Given the description of an element on the screen output the (x, y) to click on. 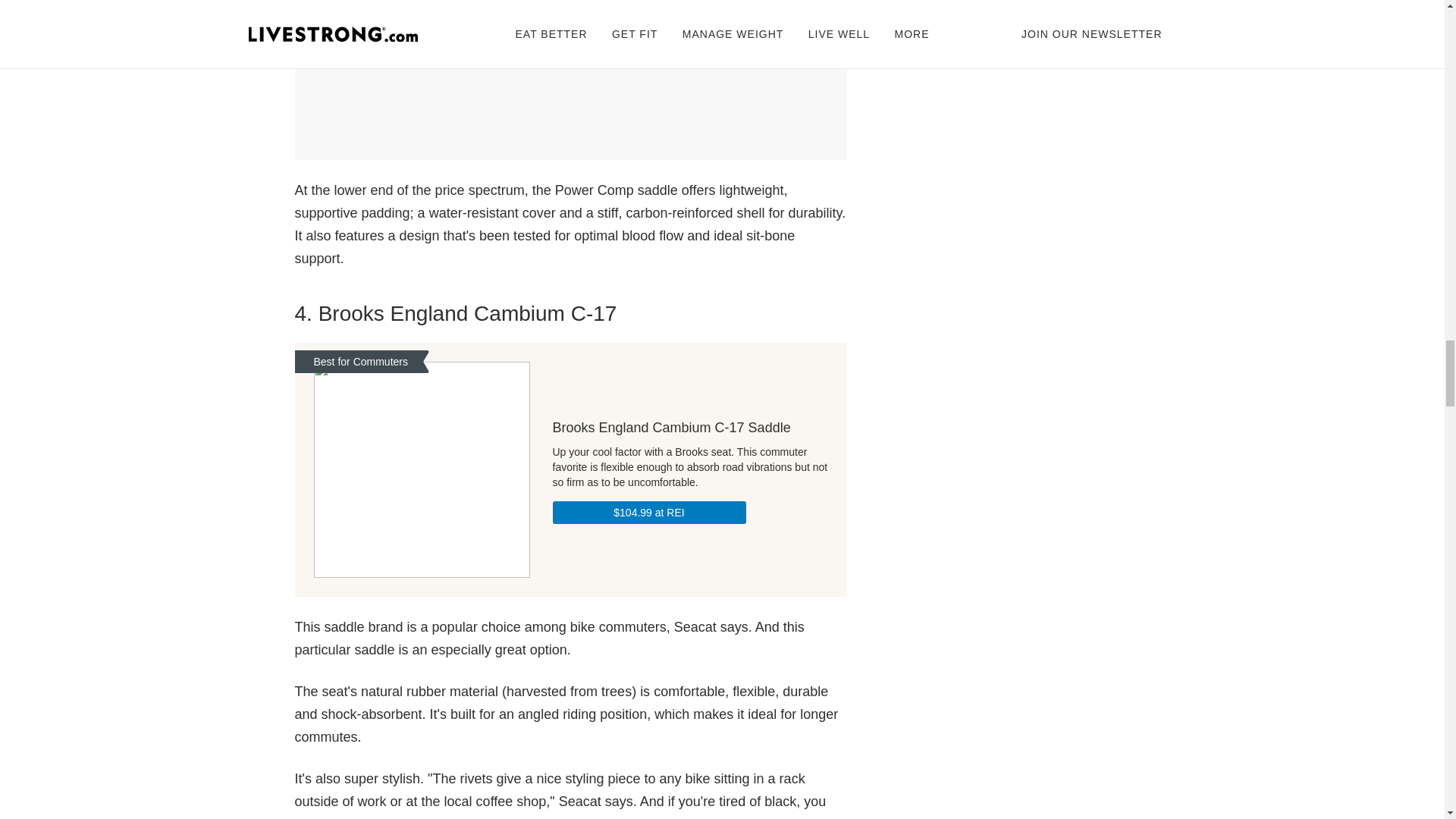
Brooks England Cambium C-17 Saddle (689, 427)
Brooks England Cambium C-17 Saddle (648, 512)
Brooks England Cambium C-17 Saddle (421, 469)
